Given the description of an element on the screen output the (x, y) to click on. 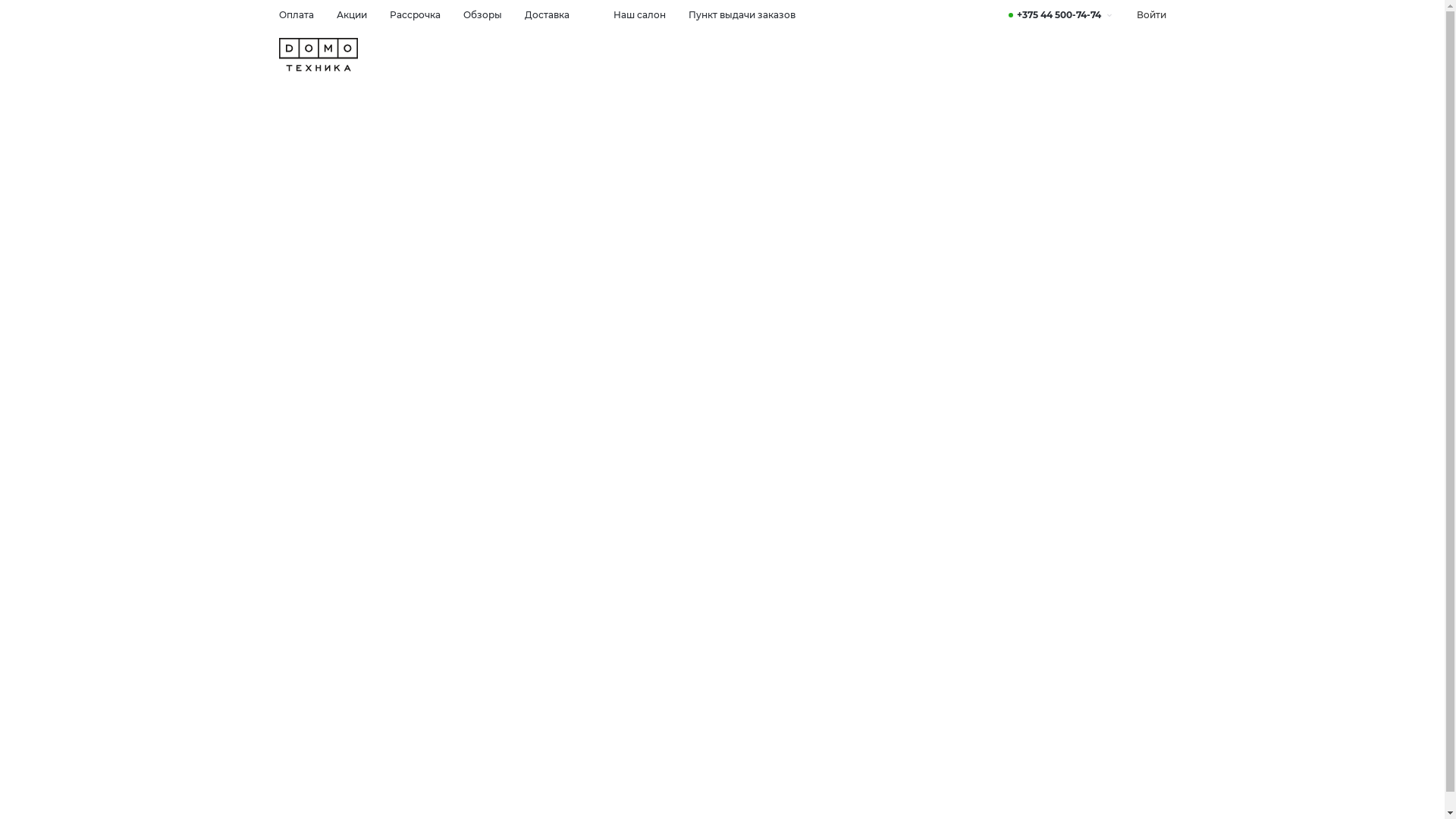
+375 44 500-74-74 Element type: text (1060, 15)
